Given the description of an element on the screen output the (x, y) to click on. 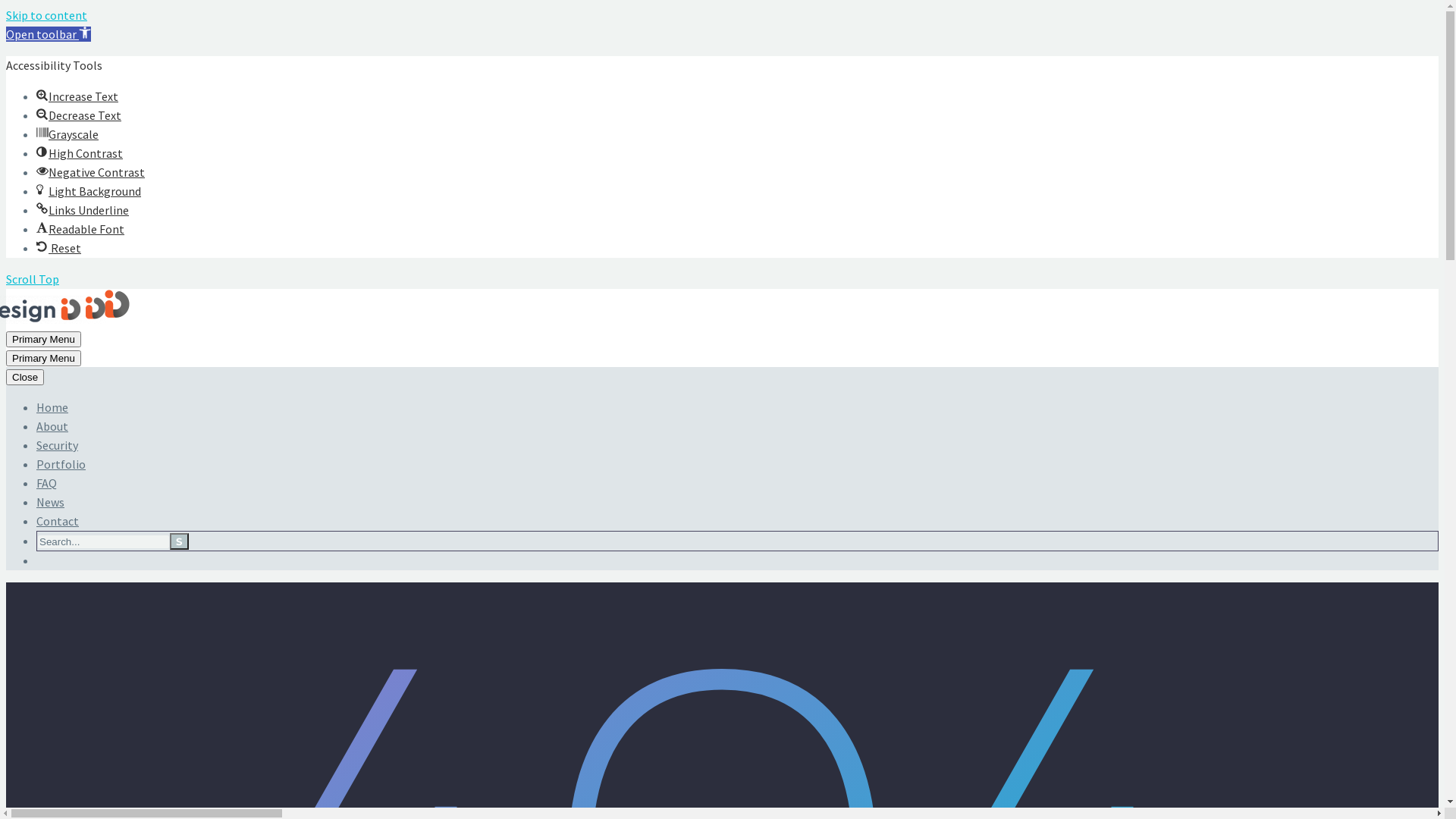
Increase TextIncrease Text Element type: text (77, 95)
Readable FontReadable Font Element type: text (80, 228)
Open toolbar Accessibility Tools Element type: text (48, 33)
Scroll Top Element type: text (32, 278)
Primary Menu Element type: text (43, 358)
News Element type: text (50, 501)
Portfolio Element type: text (60, 463)
Home Element type: text (52, 406)
Contact Element type: text (57, 520)
s Element type: text (178, 541)
Light BackgroundLight Background Element type: text (88, 190)
About Element type: text (52, 425)
GrayscaleGrayscale Element type: text (67, 133)
Close Element type: text (24, 377)
Negative ContrastNegative Contrast Element type: text (90, 171)
Skip to content Element type: text (46, 14)
Links UnderlineLinks Underline Element type: text (82, 209)
Reset Reset Element type: text (58, 247)
Security Element type: text (57, 444)
FAQ Element type: text (46, 482)
High ContrastHigh Contrast Element type: text (79, 152)
Primary Menu Element type: text (43, 339)
Decrease TextDecrease Text Element type: text (78, 114)
